Given the description of an element on the screen output the (x, y) to click on. 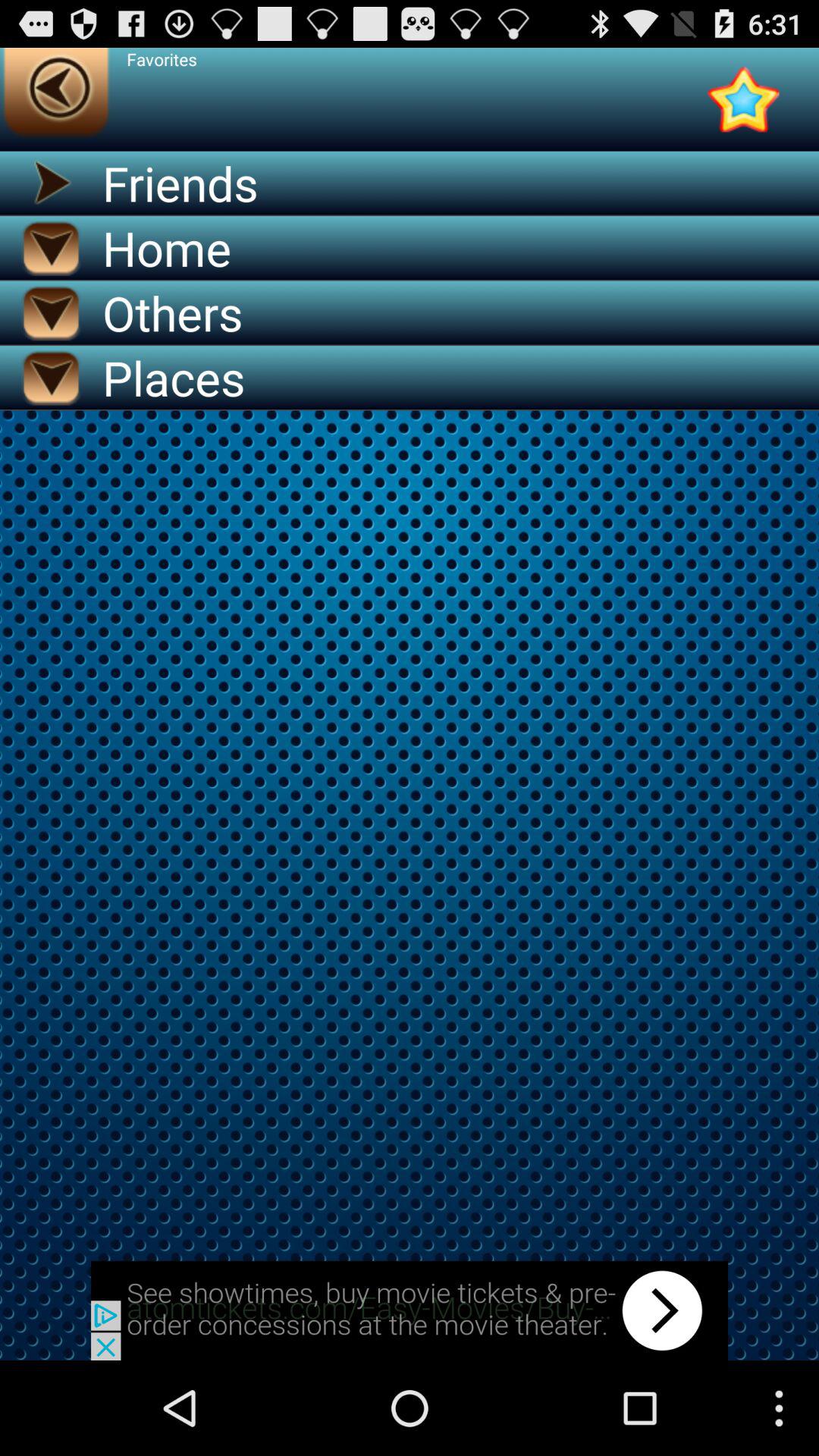
open advertisement (409, 1310)
